Given the description of an element on the screen output the (x, y) to click on. 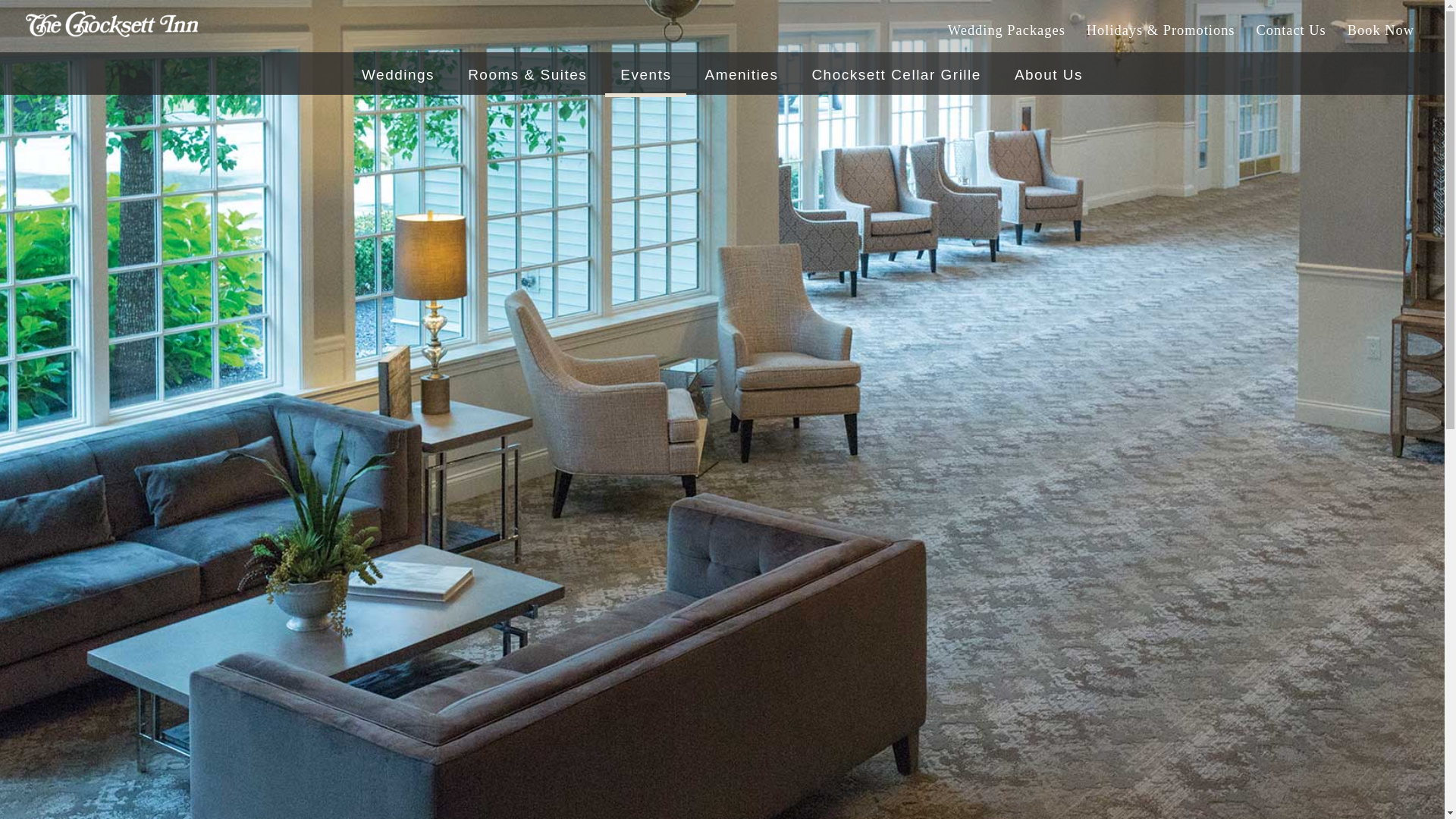
Wedding Packages (1006, 29)
Events (645, 74)
Contact Us (1291, 29)
About Us (1047, 74)
Book Now (1380, 29)
Chocksett Cellar Grille (895, 74)
Weddings (397, 74)
Amenities (740, 74)
